Given the description of an element on the screen output the (x, y) to click on. 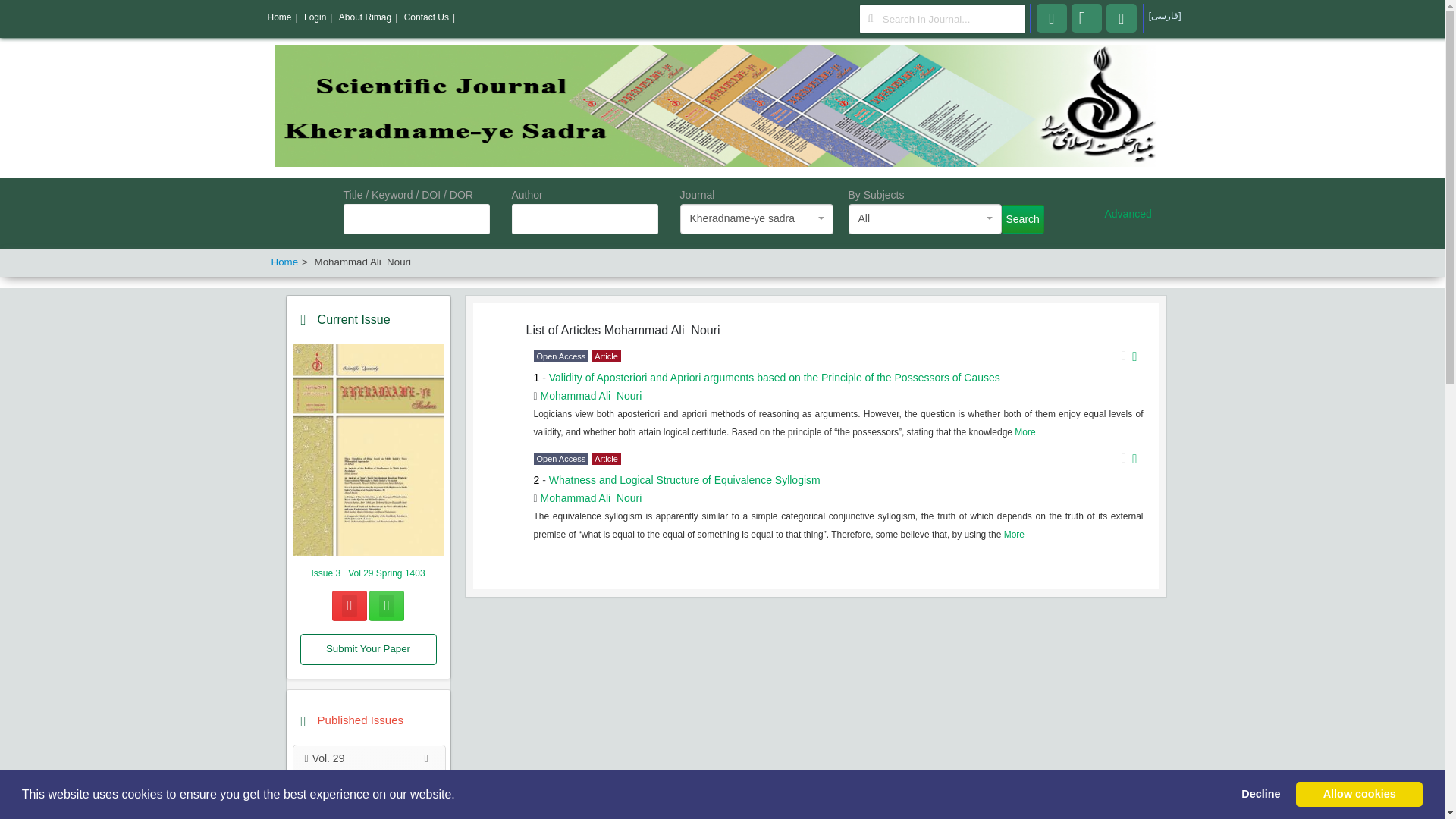
Decline (1260, 794)
Submit Your Paper (367, 649)
Published Issues (360, 720)
Search (1022, 218)
Issue 3   Vol 29 Spring 1403 (368, 573)
Advanced (1127, 214)
Allow cookies (1358, 794)
Home (284, 262)
